Given the description of an element on the screen output the (x, y) to click on. 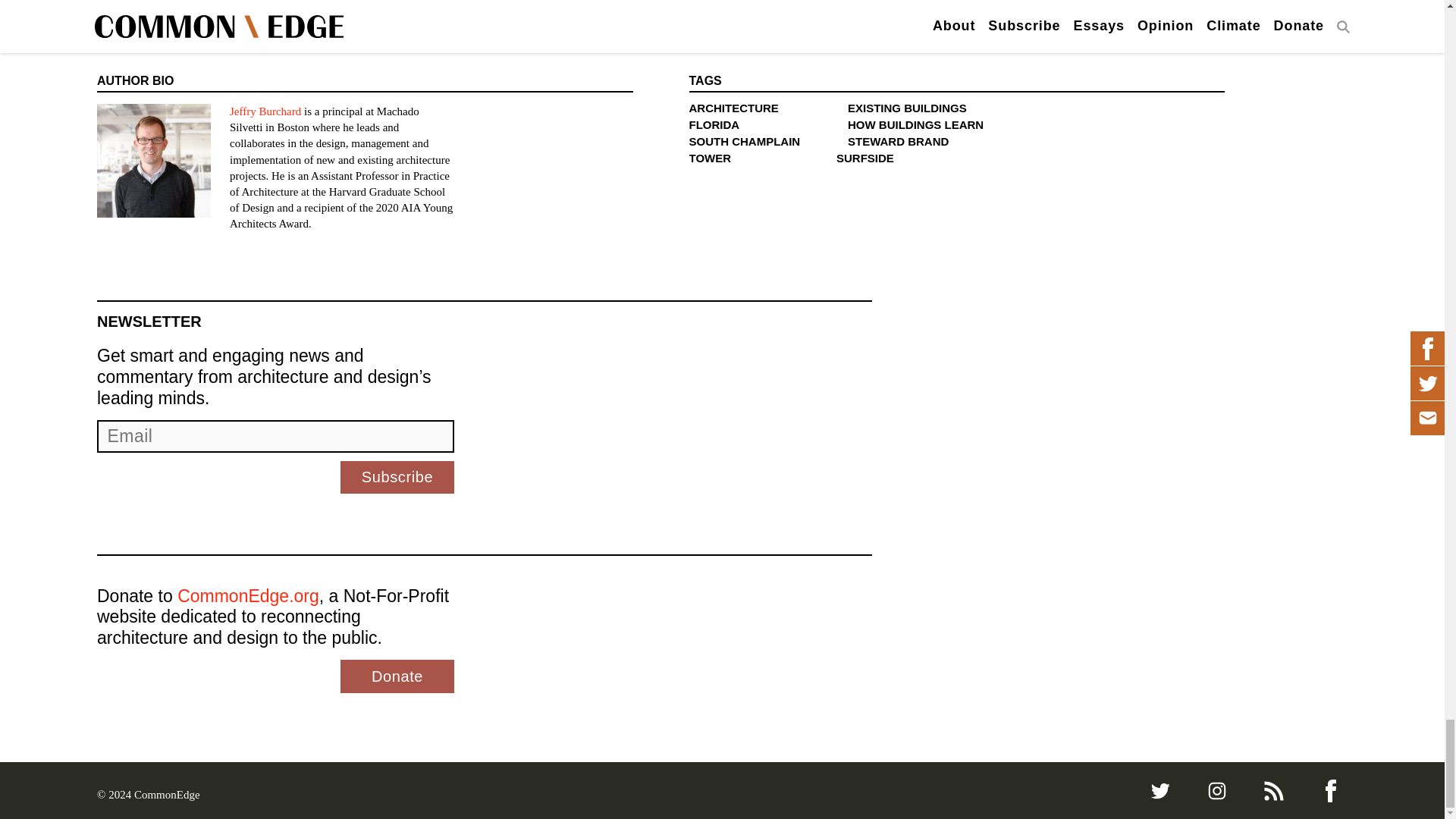
Jeffry Burchard (265, 111)
SURFSIDE (864, 157)
EXISTING BUILDINGS (906, 107)
FLORIDA (713, 124)
HOW BUILDINGS LEARN (915, 124)
ARCHITECTURE (732, 107)
SOUTH CHAMPLAIN TOWER (743, 149)
Subscribe (397, 477)
Donate (397, 676)
STEWARD BRAND (898, 141)
Subscribe (397, 477)
